Given the description of an element on the screen output the (x, y) to click on. 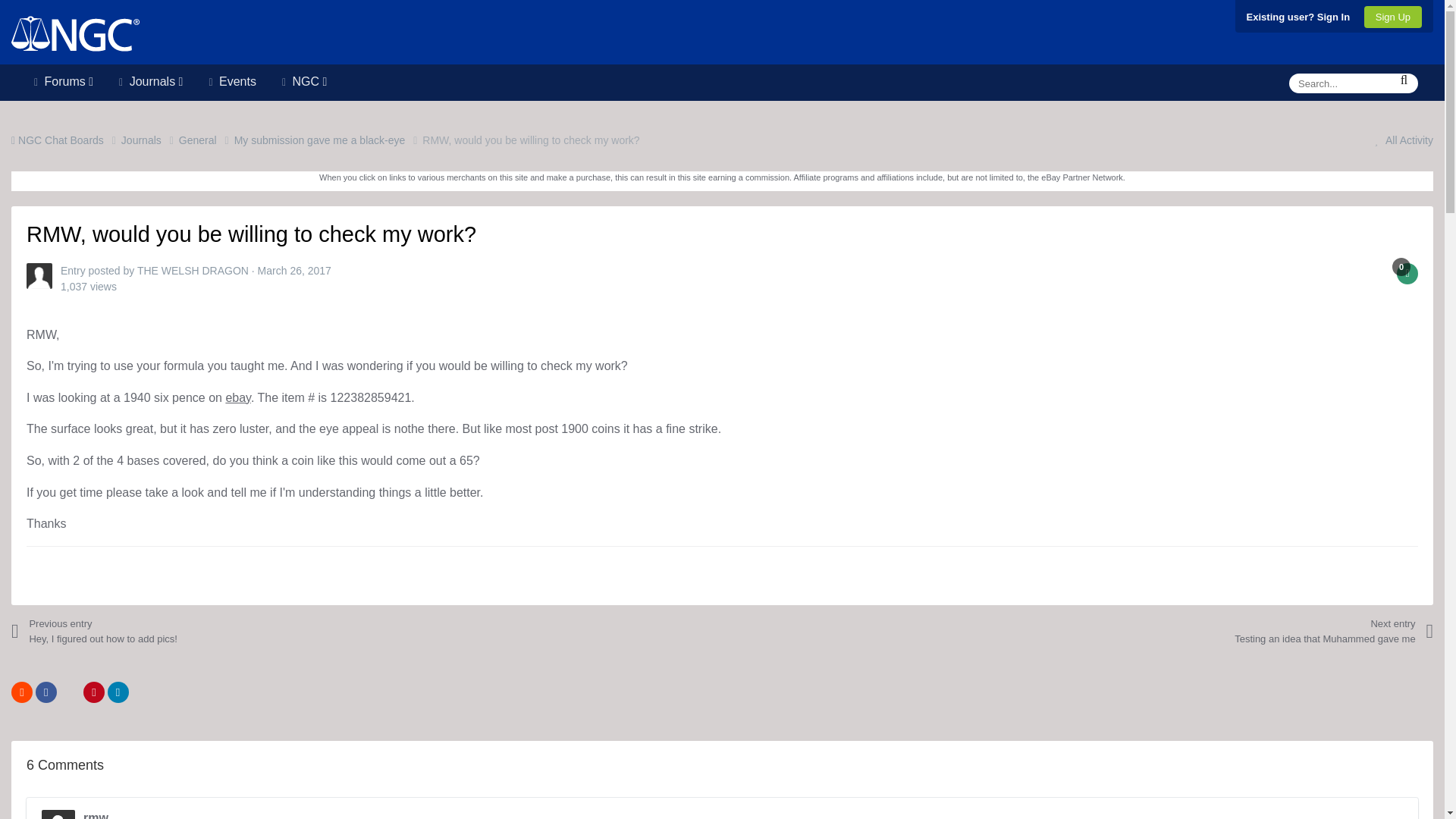
Existing user? Sign In (1298, 16)
Go to THE WELSH DRAGON's profile (192, 270)
Sign Up (1393, 16)
NGC (303, 79)
NGC Chat Boards (65, 140)
Go to THE WELSH DRAGON's profile (39, 275)
Journals (150, 79)
NGC Chat Boards (65, 140)
Events (231, 79)
All Activity (1400, 140)
